Given the description of an element on the screen output the (x, y) to click on. 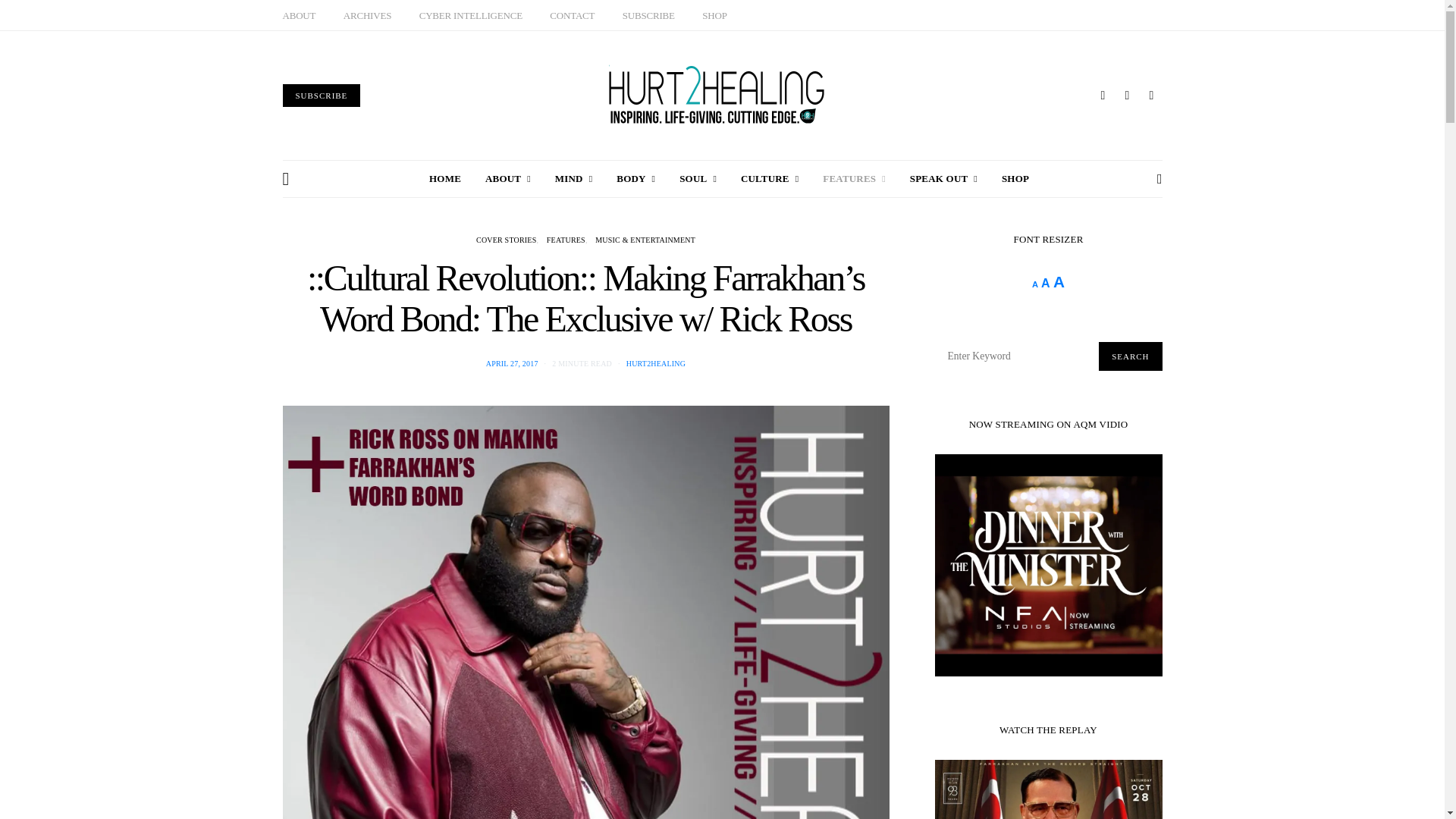
View all posts by Hurt2Healing (655, 363)
